Given the description of an element on the screen output the (x, y) to click on. 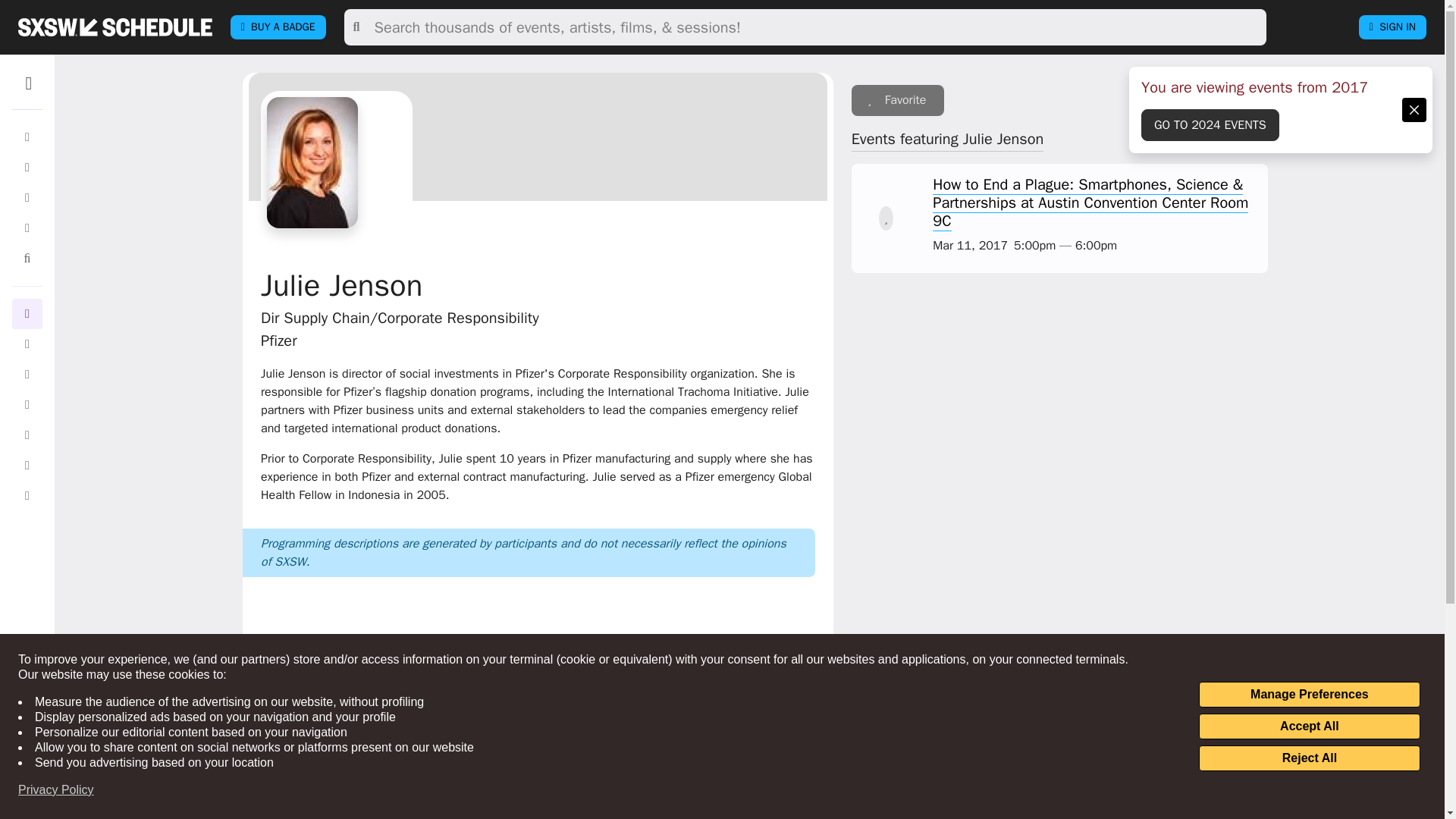
Accept All (1309, 726)
Reject All (1309, 758)
Manage Preferences (1309, 694)
SIGN IN (1392, 27)
Sign In to add to your favorites. (897, 100)
BUY A BADGE (278, 27)
GO TO 2024 EVENTS (1210, 124)
sxsw SCHEDULE (114, 27)
Privacy Policy (55, 789)
